Given the description of an element on the screen output the (x, y) to click on. 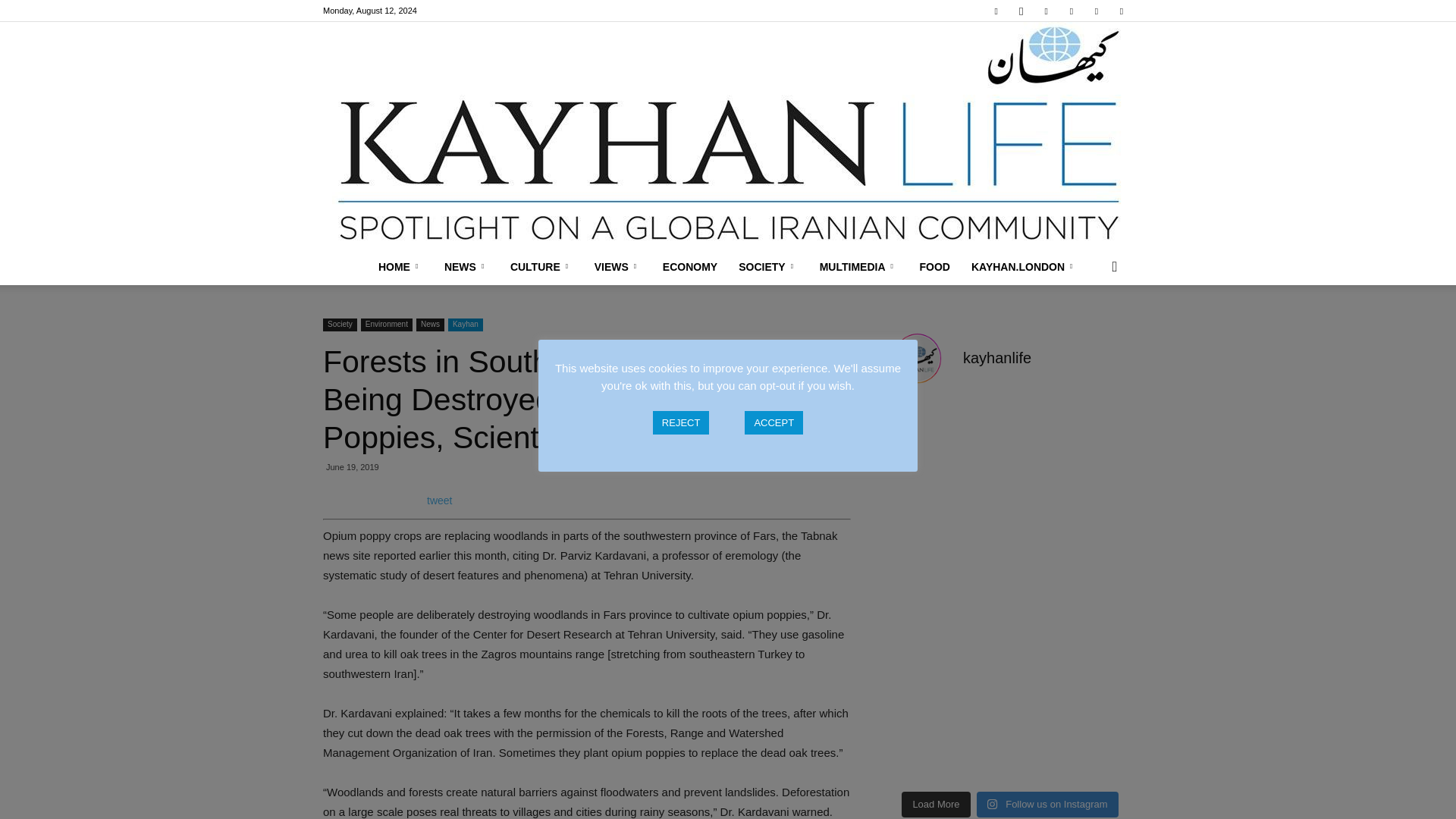
Linkedin (1046, 10)
Instagram (1021, 10)
Twitter (1096, 10)
Facebook (996, 10)
Youtube (1120, 10)
Pinterest (1071, 10)
